Given the description of an element on the screen output the (x, y) to click on. 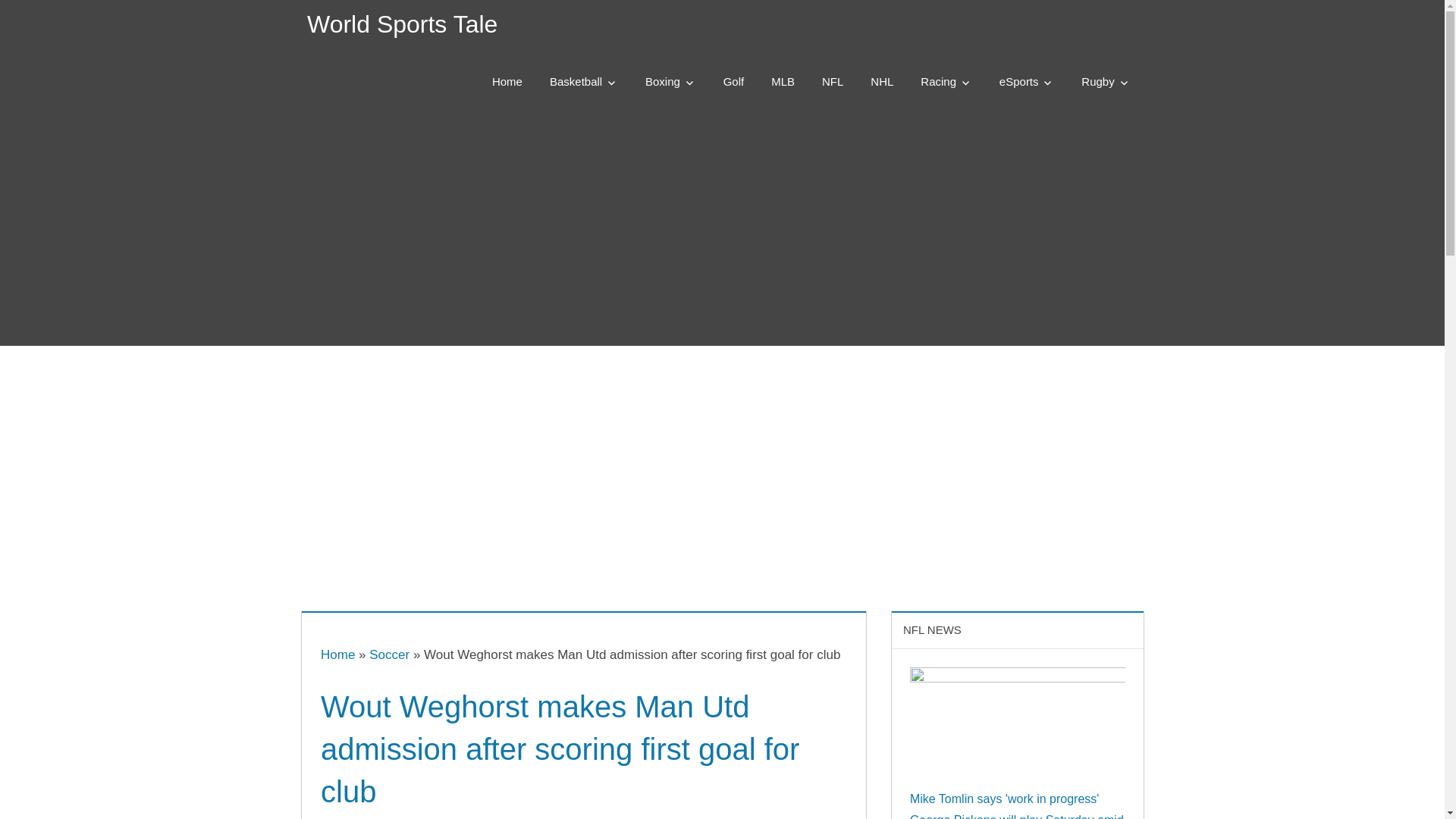
eSports (1026, 81)
Home (337, 654)
NFL (832, 81)
Golf (734, 81)
Racing (946, 81)
Home (507, 81)
NHL (882, 81)
World Sports Tale (402, 23)
